Given the description of an element on the screen output the (x, y) to click on. 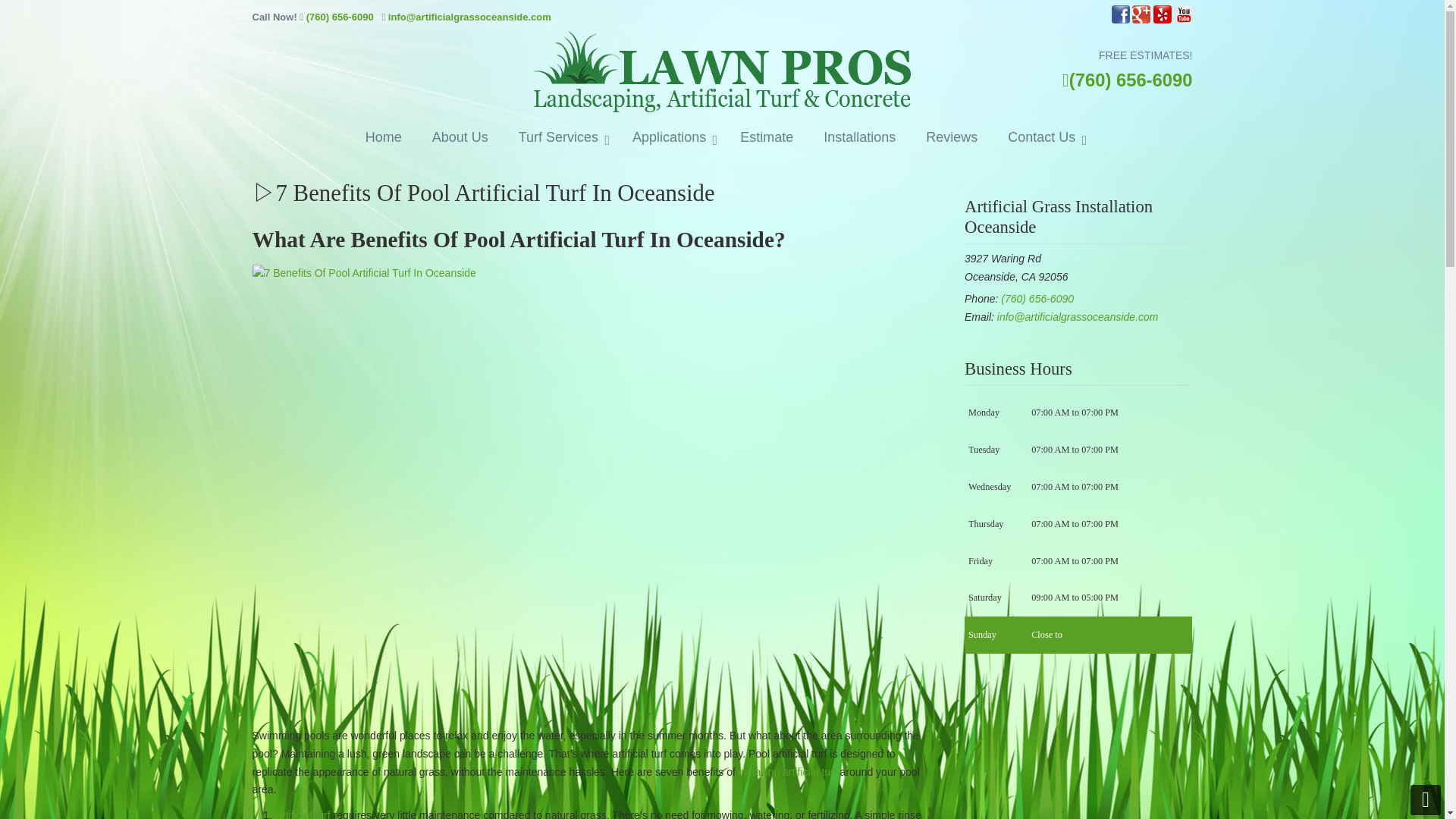
Turf Services (560, 137)
About Us (459, 137)
Installations (859, 137)
Contact Us (1043, 137)
Applications (671, 137)
YouTube (1182, 19)
installing artificial turf (787, 771)
Home (383, 137)
Artificial turf (302, 814)
